Given the description of an element on the screen output the (x, y) to click on. 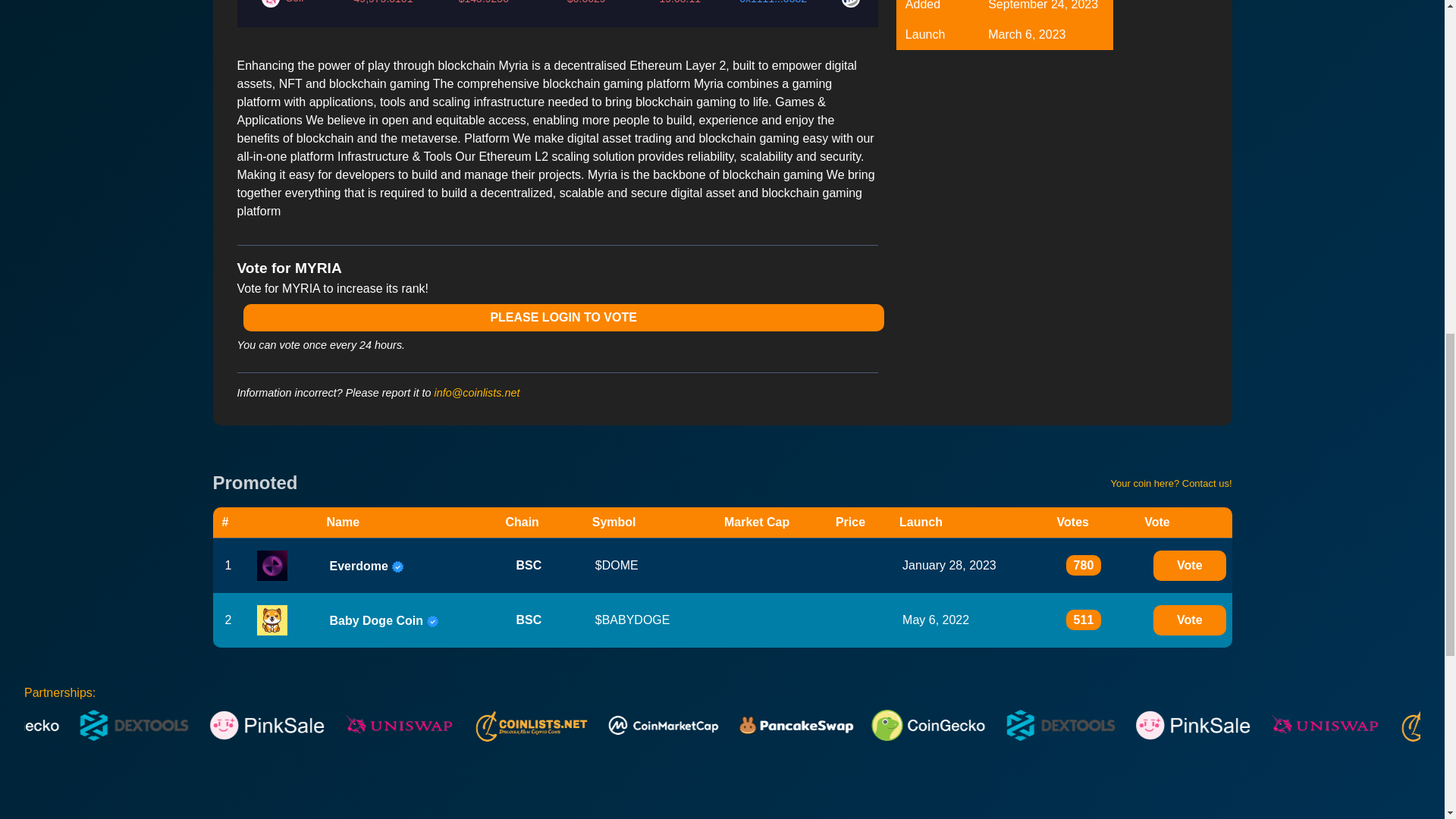
PLEASE LOGIN TO VOTE (563, 317)
